Given the description of an element on the screen output the (x, y) to click on. 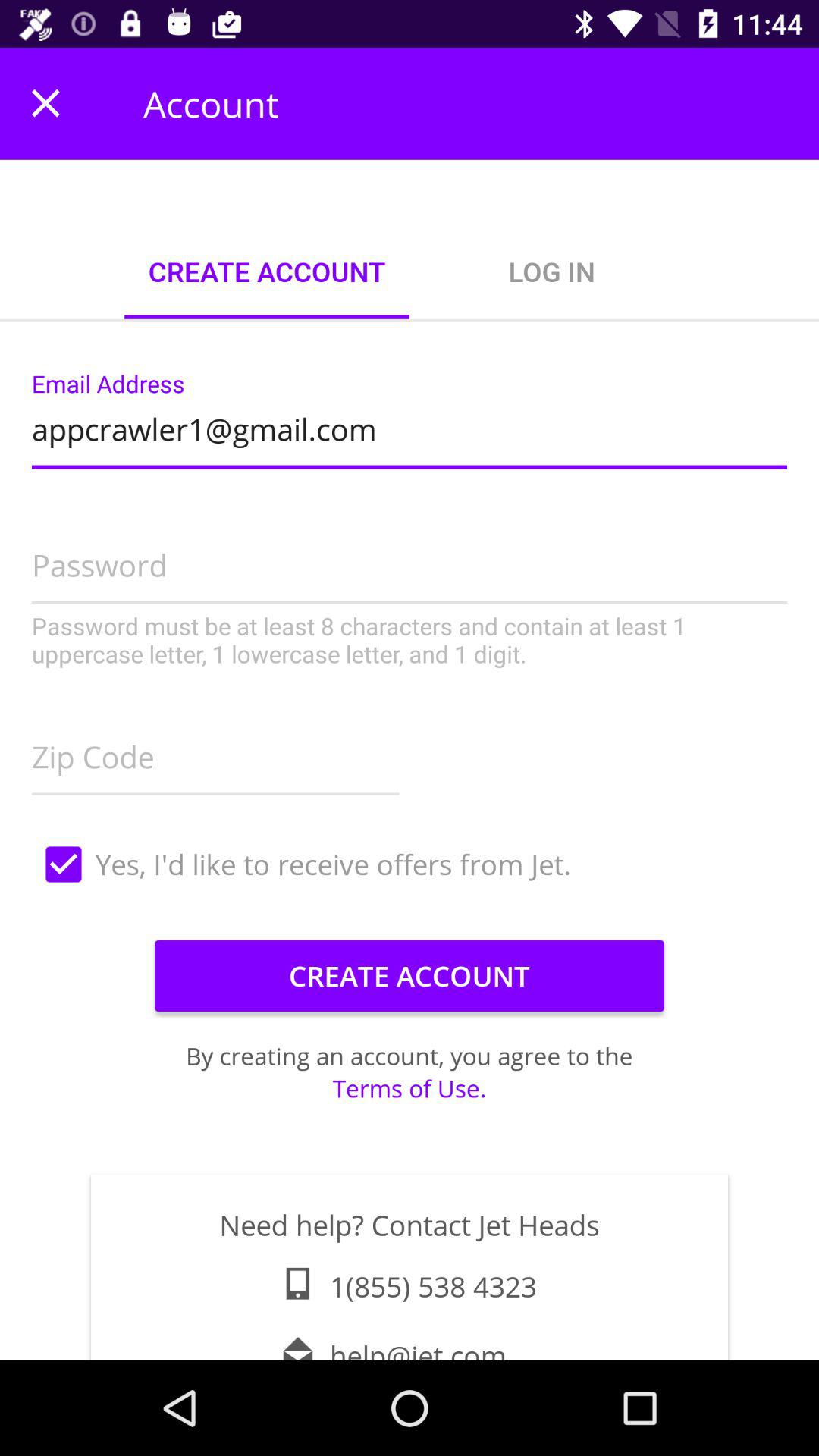
press the item below the appcrawler1@gmail.com item (409, 588)
